Given the description of an element on the screen output the (x, y) to click on. 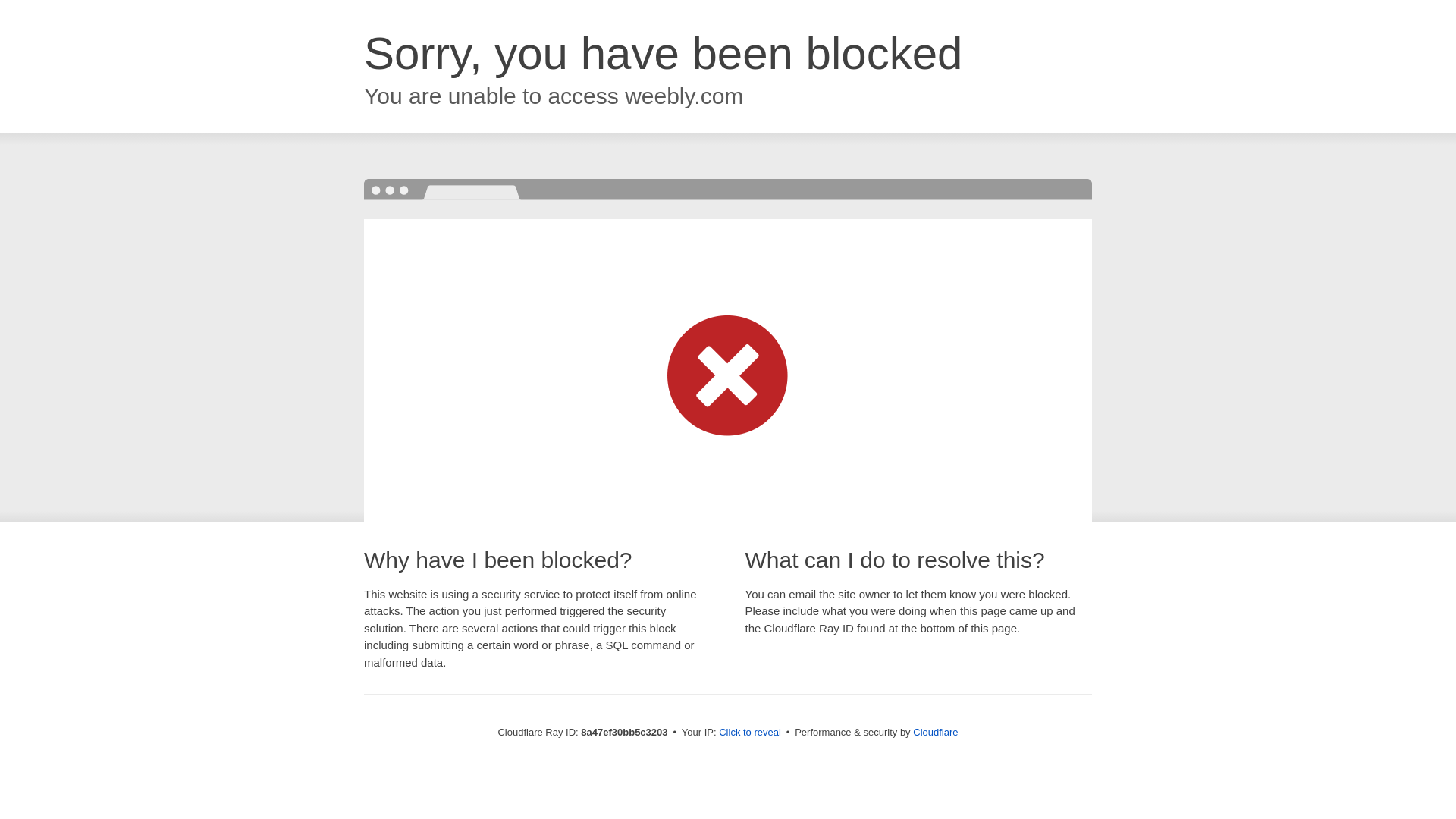
Click to reveal (749, 732)
Cloudflare (935, 731)
